Given the description of an element on the screen output the (x, y) to click on. 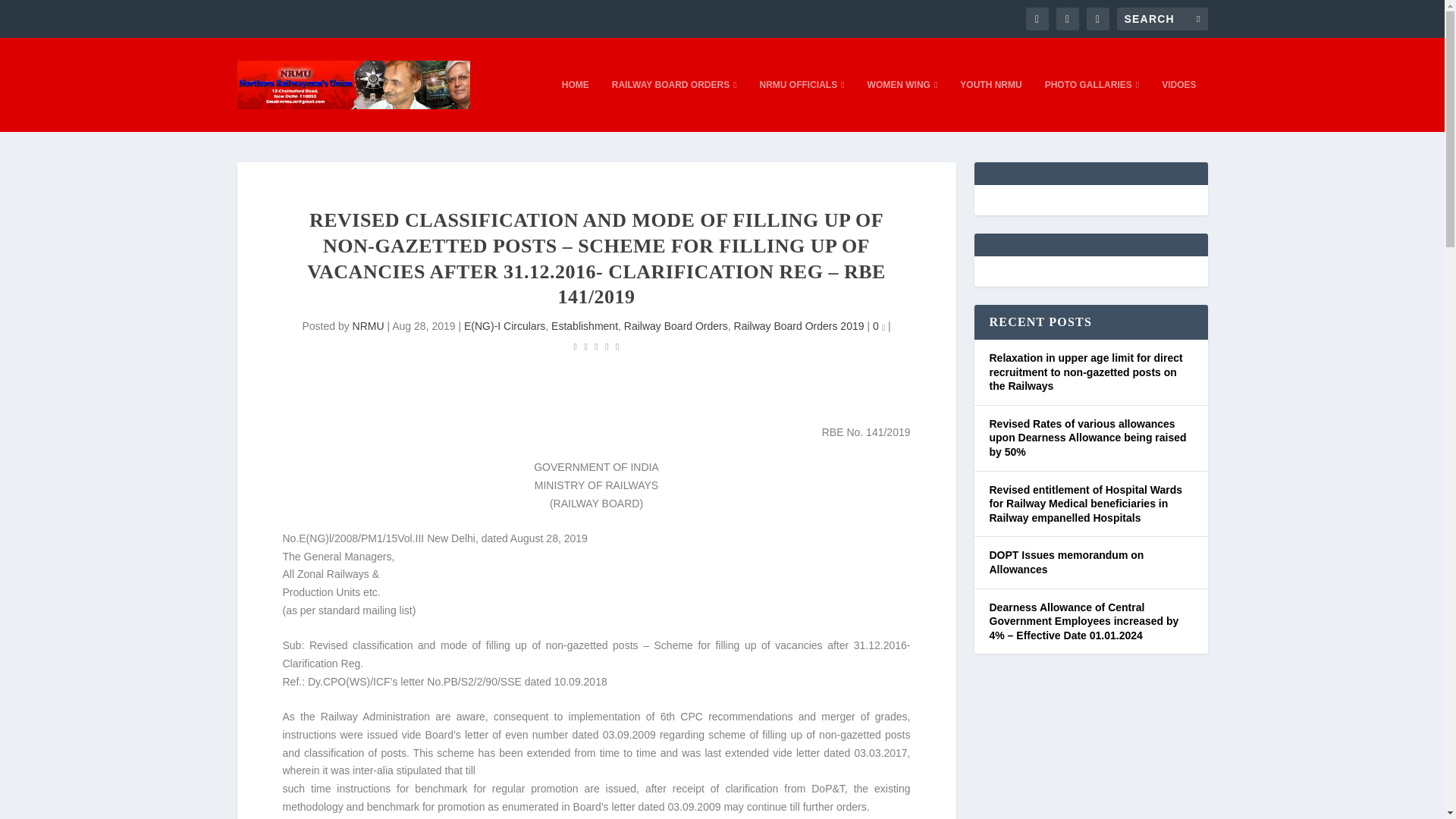
RAILWAY BOARD ORDERS (673, 104)
Search for: (1161, 18)
NRMU OFFICIALS (802, 104)
Posts by NRMU (368, 326)
Rating: 0.00 (596, 345)
